Given the description of an element on the screen output the (x, y) to click on. 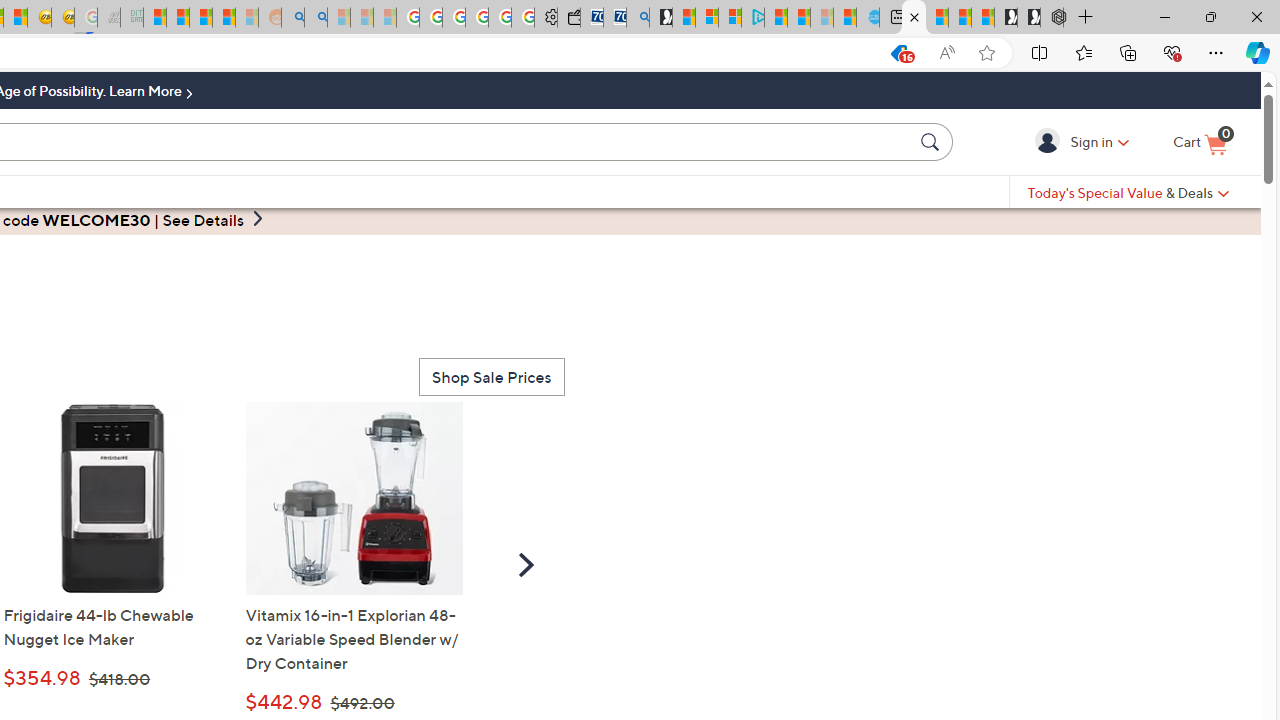
Shop Sale Prices (491, 376)
Cheap Car Rentals - Save70.com (614, 17)
Microsoft Start Gaming (660, 17)
DITOGAMES AG Imprint - Sleeping (132, 17)
Sign in (1049, 141)
